Given the description of an element on the screen output the (x, y) to click on. 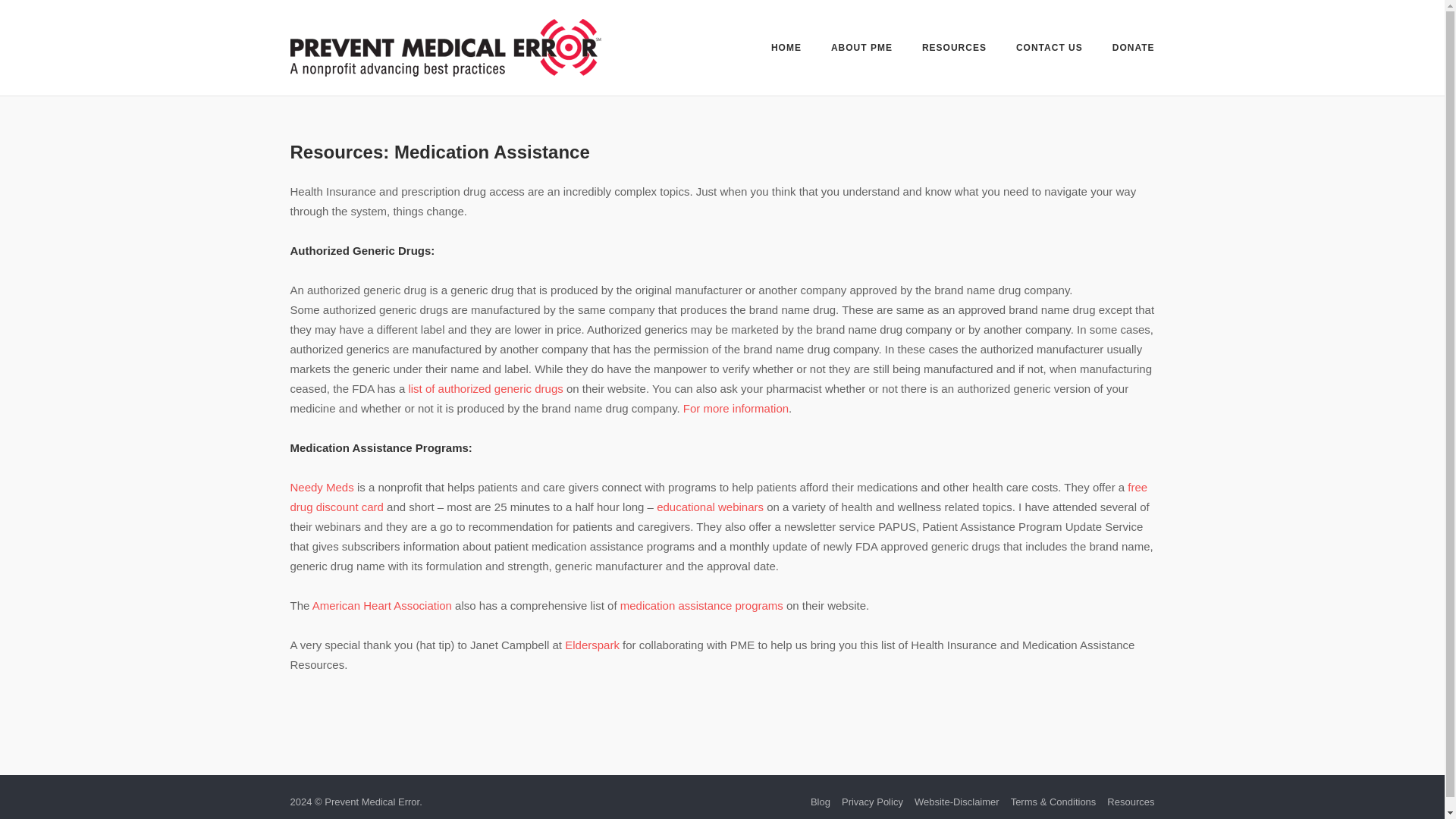
Needy Meds (321, 486)
CONTACT US (1049, 50)
RESOURCES (954, 50)
ABOUT PME (861, 49)
American Heart Association (382, 604)
For more information (735, 408)
list of authorized generic drugs (484, 388)
educational webinars (709, 506)
Privacy Policy (871, 801)
DONATE (1133, 50)
HOME (786, 50)
Website-Disclaimer (956, 801)
Blog (819, 801)
Elderspark (592, 644)
Resources (1130, 801)
